Given the description of an element on the screen output the (x, y) to click on. 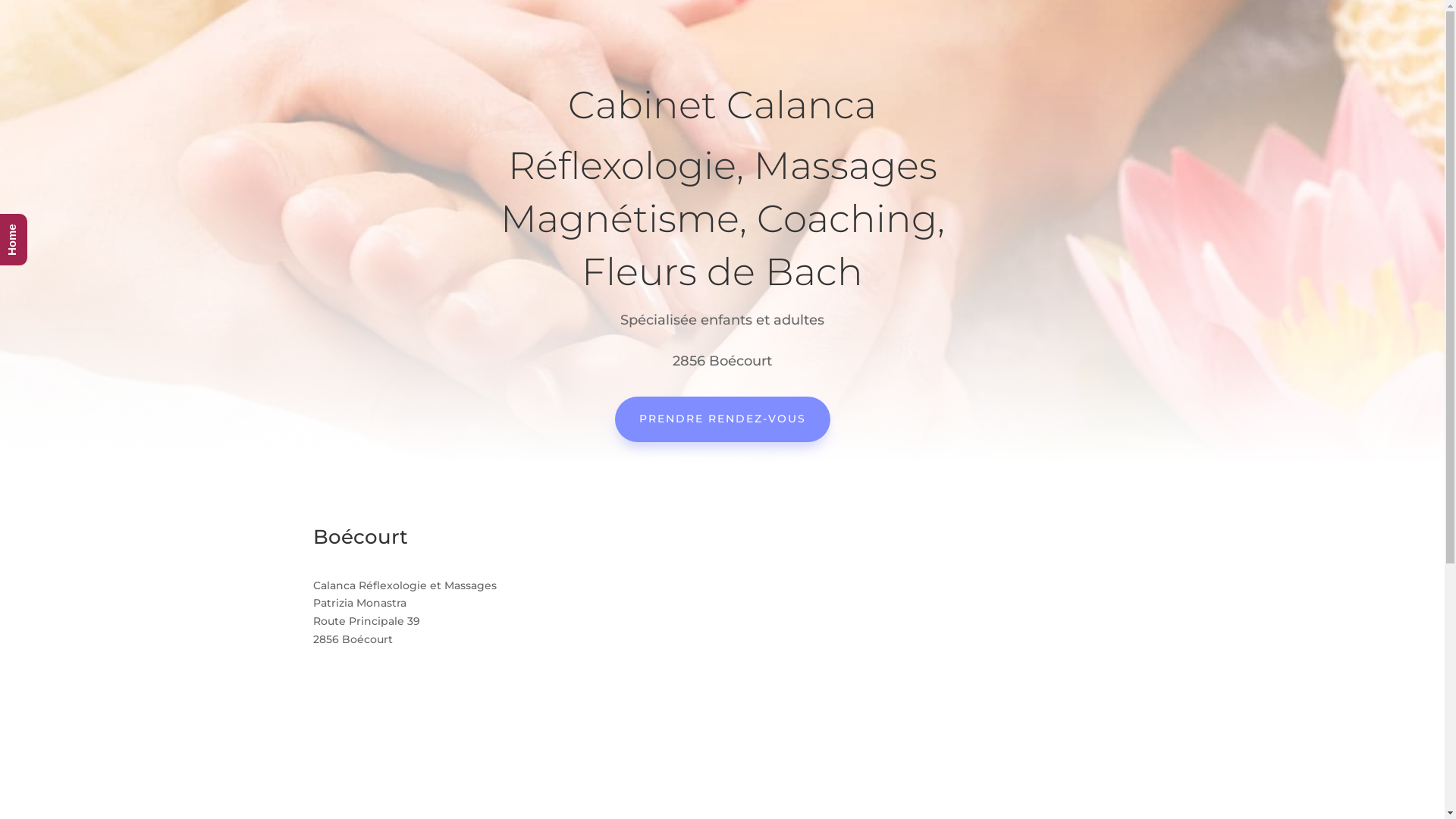
PRENDRE RENDEZ-VOUS Element type: text (721, 419)
